Given the description of an element on the screen output the (x, y) to click on. 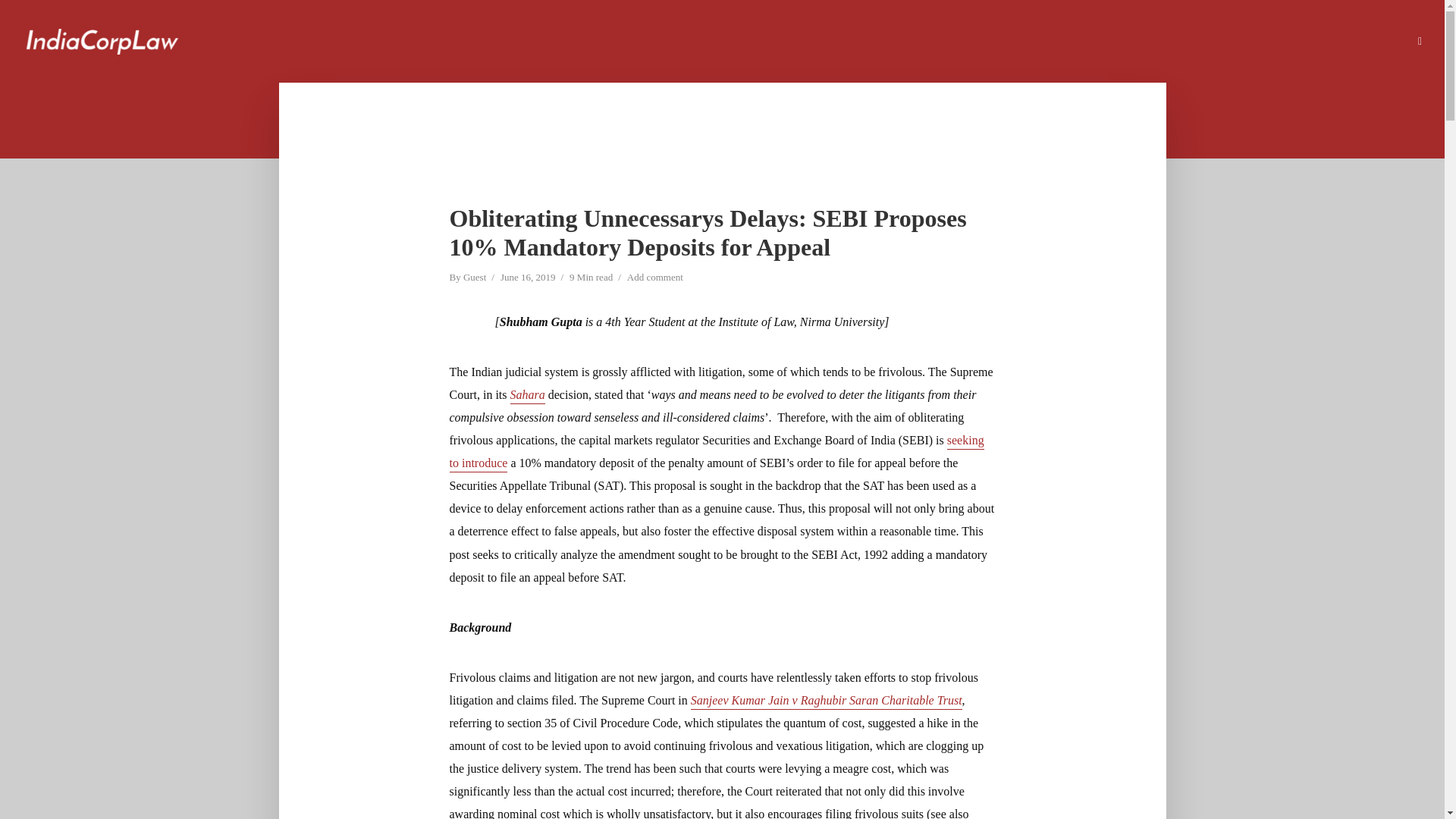
Add comment (654, 278)
Sanjeev Kumar Jain v Raghubir Saran Charitable Trust (826, 701)
Sahara (527, 396)
seeking to introduce (716, 453)
Guest (474, 278)
